Given the description of an element on the screen output the (x, y) to click on. 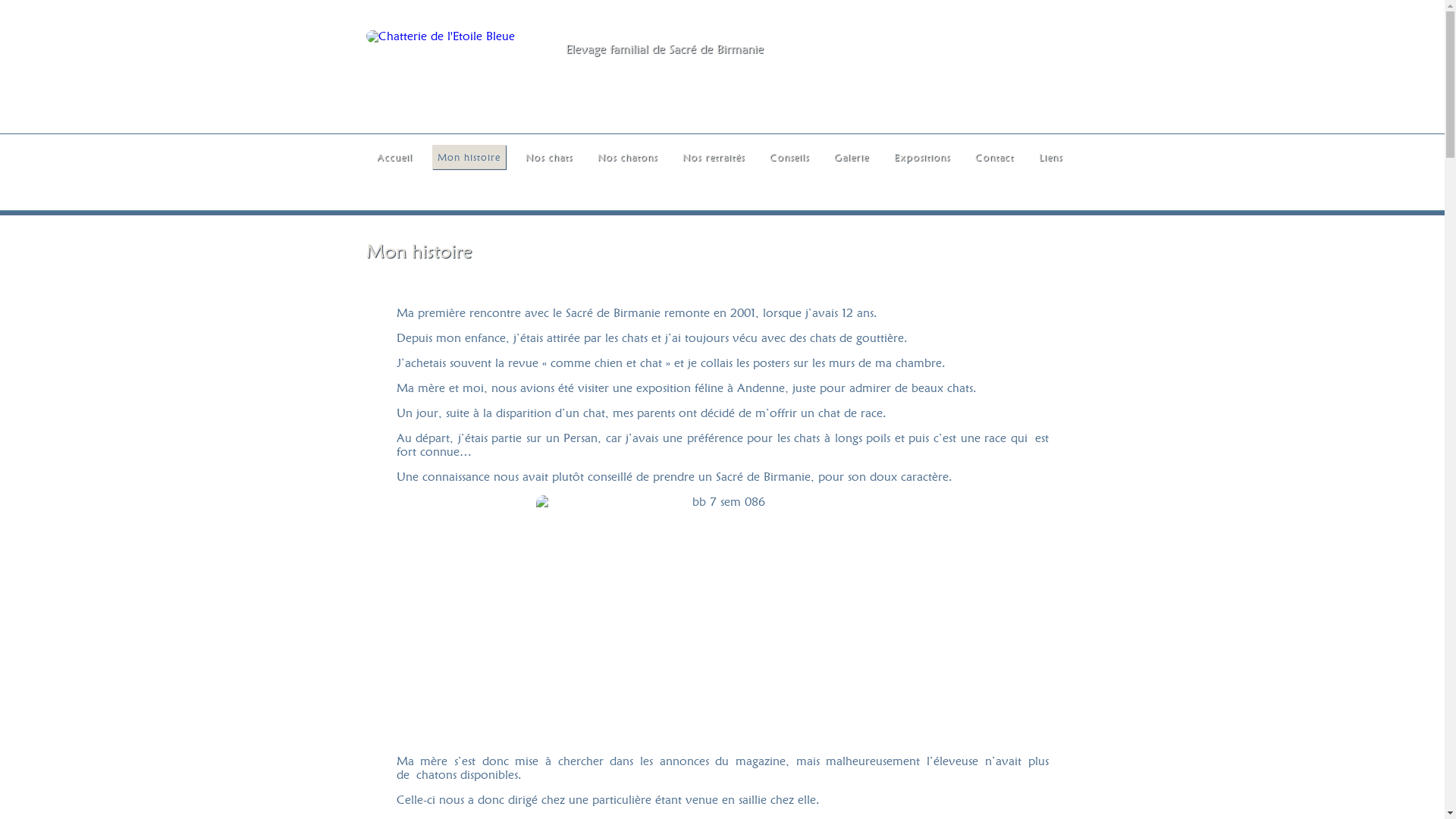
Expositions Element type: text (921, 156)
Mon histoire Element type: text (468, 156)
Conseils Element type: text (789, 156)
Nos chatons Element type: text (626, 156)
Nos chats Element type: text (548, 156)
Contact Element type: text (993, 156)
Liens Element type: text (1049, 156)
Accueil Element type: text (394, 156)
Galerie Element type: text (850, 156)
